Given the description of an element on the screen output the (x, y) to click on. 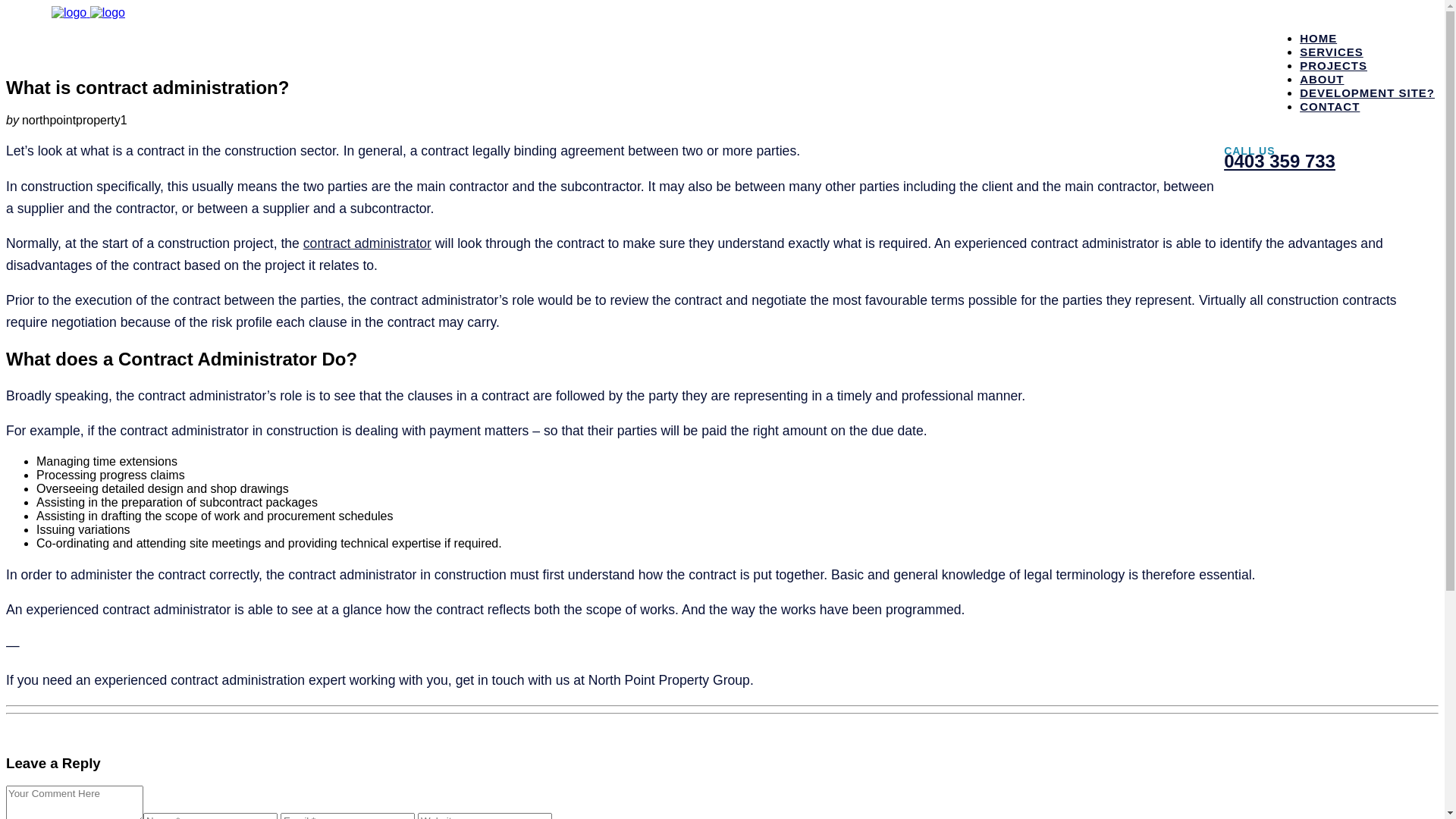
ABOUT Element type: text (1321, 78)
CONTACT Element type: text (1329, 106)
contract administrator Element type: text (367, 243)
DEVELOPMENT SITE? Element type: text (1366, 92)
PROJECTS Element type: text (1333, 65)
HOME Element type: text (1317, 37)
SERVICES Element type: text (1331, 51)
0403 359 733 Element type: text (1279, 160)
